Given the description of an element on the screen output the (x, y) to click on. 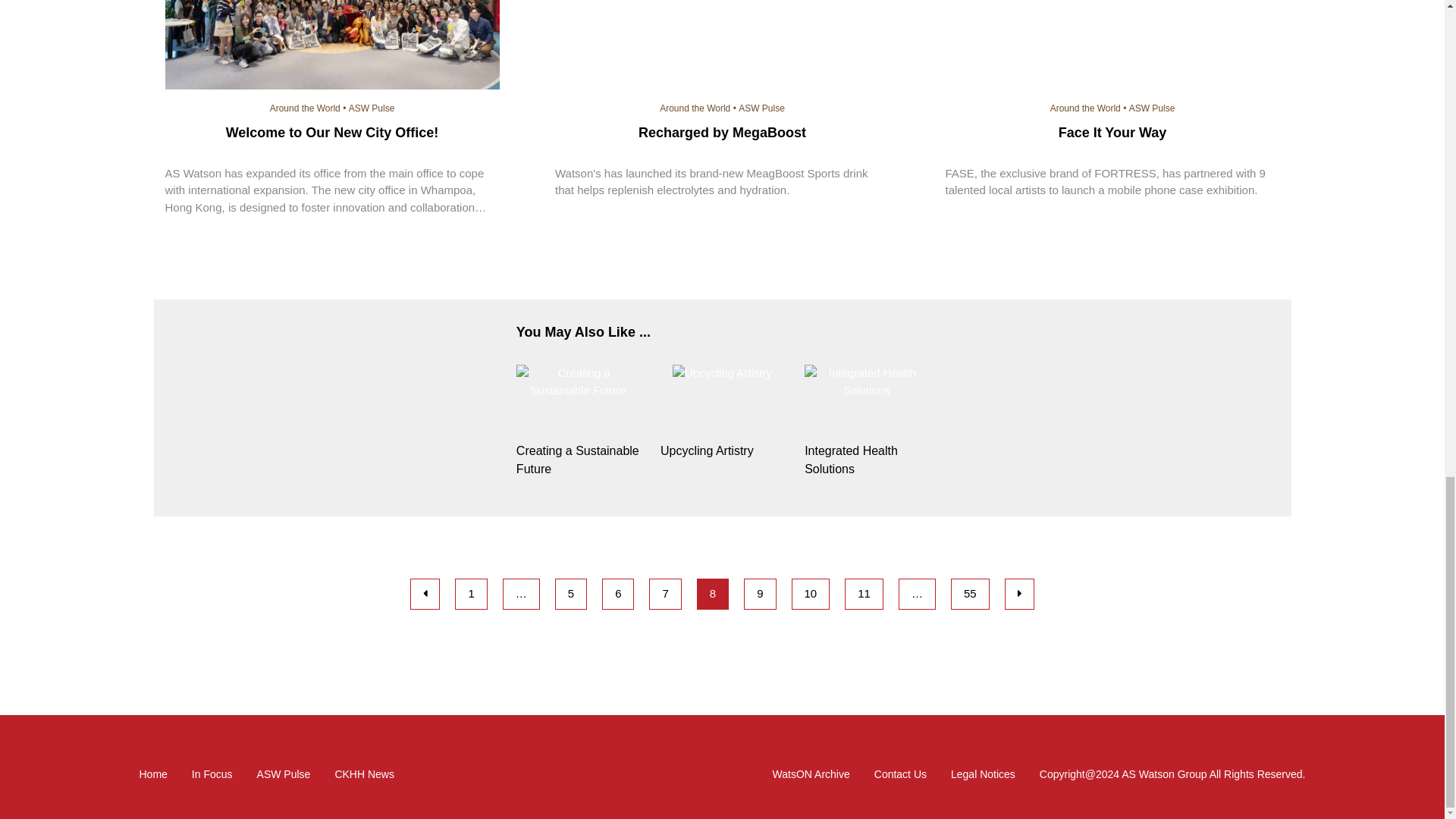
Upcycling Artistry (722, 451)
Upcycling Artistry (722, 373)
Creating a Sustainable Future (578, 460)
Integrated Health Solutions (866, 460)
Creating a Sustainable Future (578, 381)
Integrated Health Solutions (866, 381)
Welcome to Our New City Office! (332, 47)
